Given the description of an element on the screen output the (x, y) to click on. 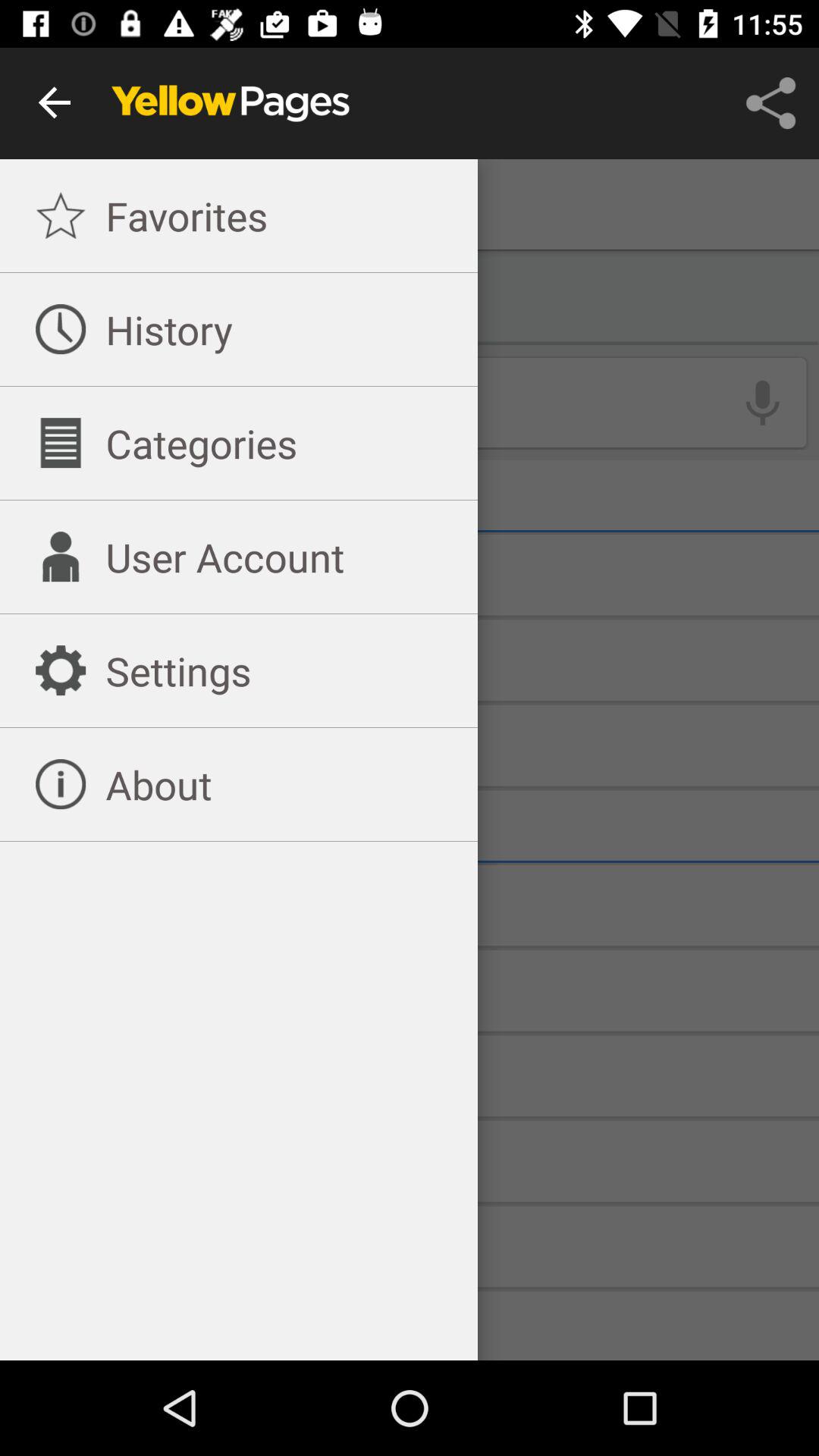
select the icon beside about (60, 783)
